Given the description of an element on the screen output the (x, y) to click on. 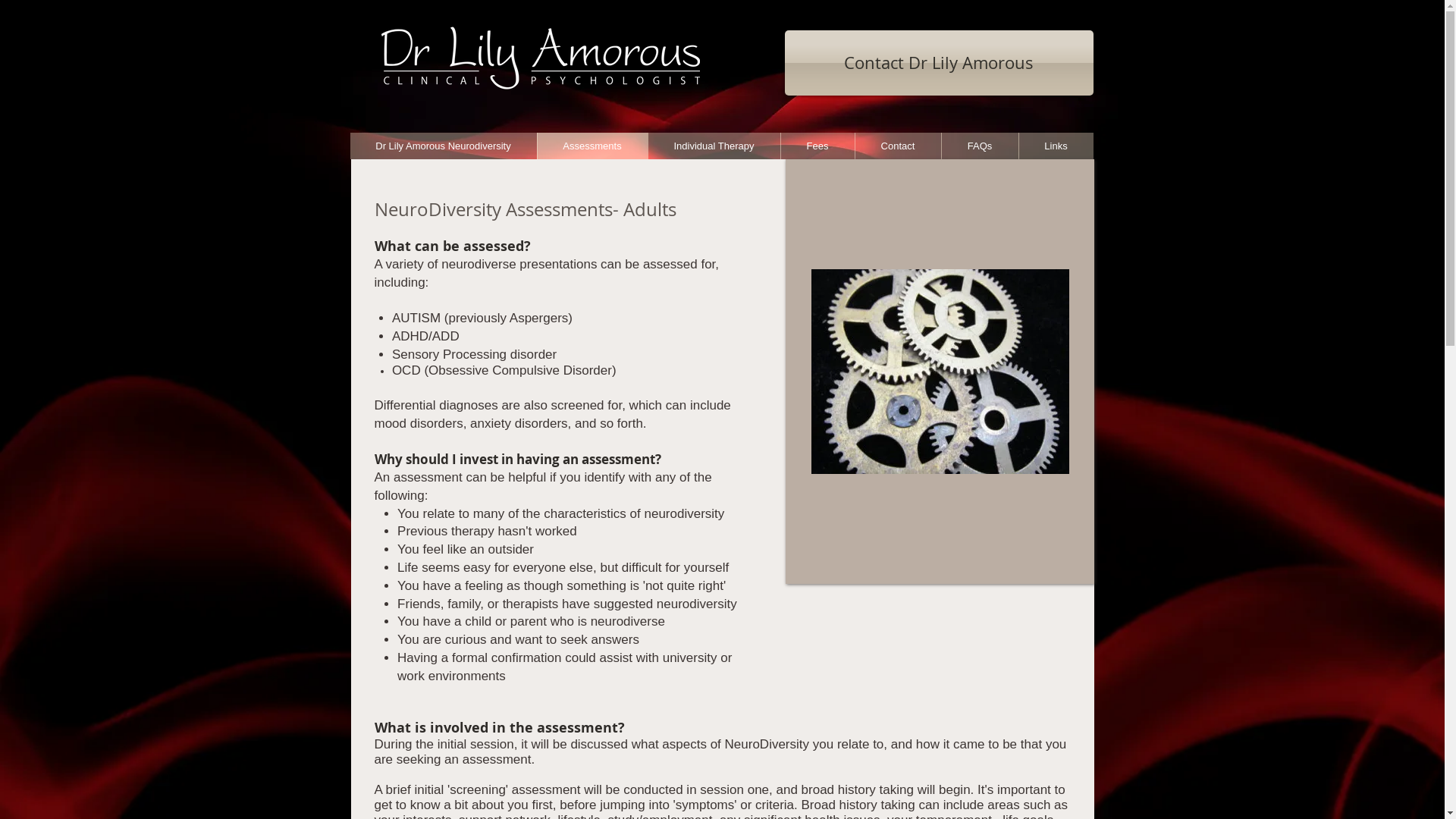
Dr Lily Amorous Neurodiversity Element type: text (443, 145)
Assessments Element type: text (591, 145)
Links Element type: text (1054, 145)
Individual Therapy Element type: text (713, 145)
Dr+Lily+Amorous+Curves.jpg Element type: hover (596, 121)
FAQs Element type: text (978, 145)
Dr+Lily+Logo.png Element type: hover (539, 57)
Contact Dr Lily Amorous Element type: text (938, 62)
Contact Element type: text (896, 145)
Budding Tree Element type: hover (940, 303)
Fees Element type: text (816, 145)
